Given the description of an element on the screen output the (x, y) to click on. 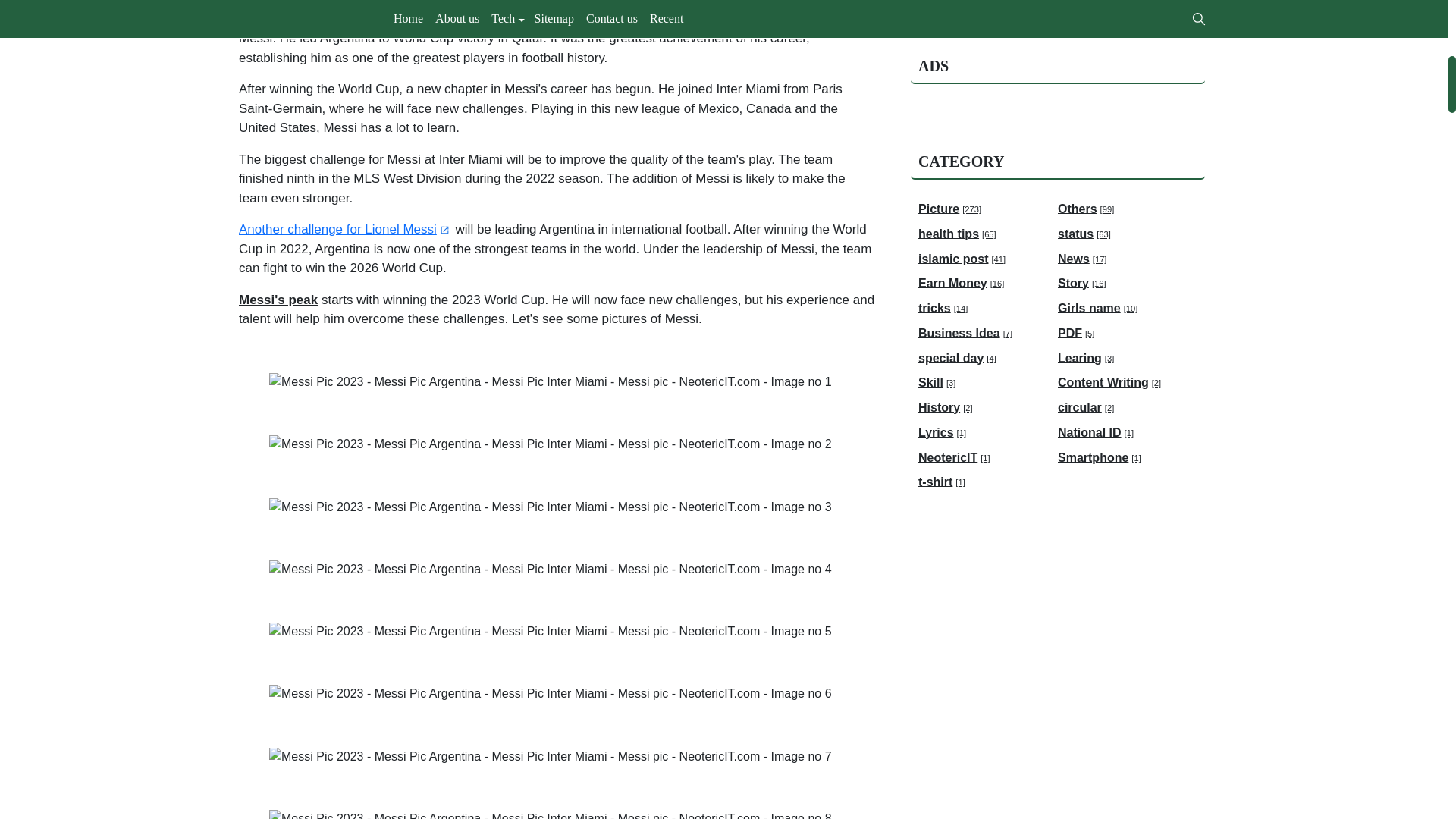
Another challenge for Lionel Messi (344, 228)
